Given the description of an element on the screen output the (x, y) to click on. 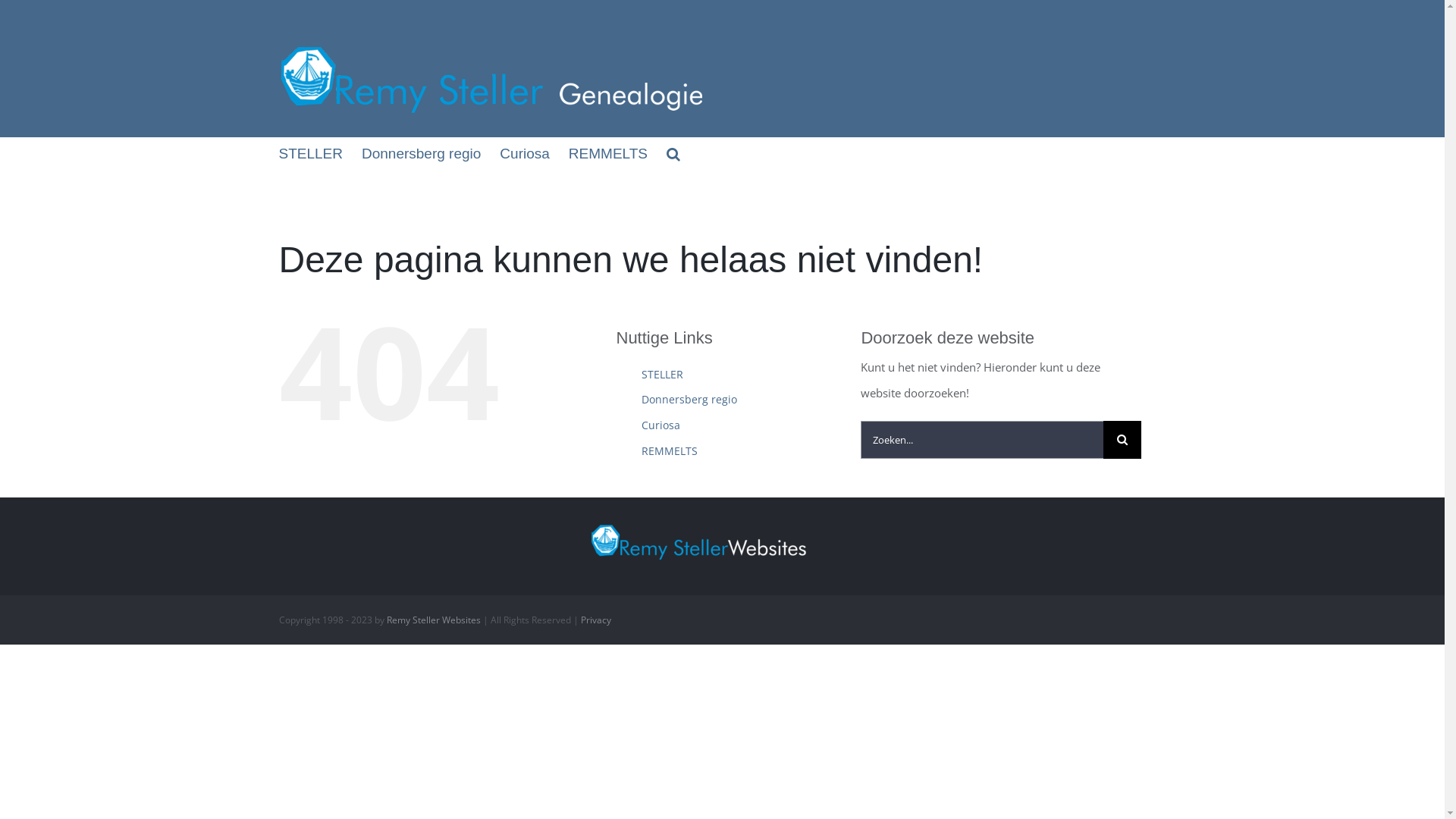
STELLER Element type: text (662, 374)
STELLER Element type: text (310, 153)
Donnersberg regio Element type: text (420, 153)
Curiosa Element type: text (660, 424)
Remy Steller Websites Element type: text (433, 619)
REMMELTS Element type: text (607, 153)
Donnersberg regio Element type: text (689, 399)
Privacy Element type: text (595, 619)
Curiosa Element type: text (524, 153)
Zoeken Element type: hover (673, 153)
REMMELTS Element type: text (669, 450)
